Given the description of an element on the screen output the (x, y) to click on. 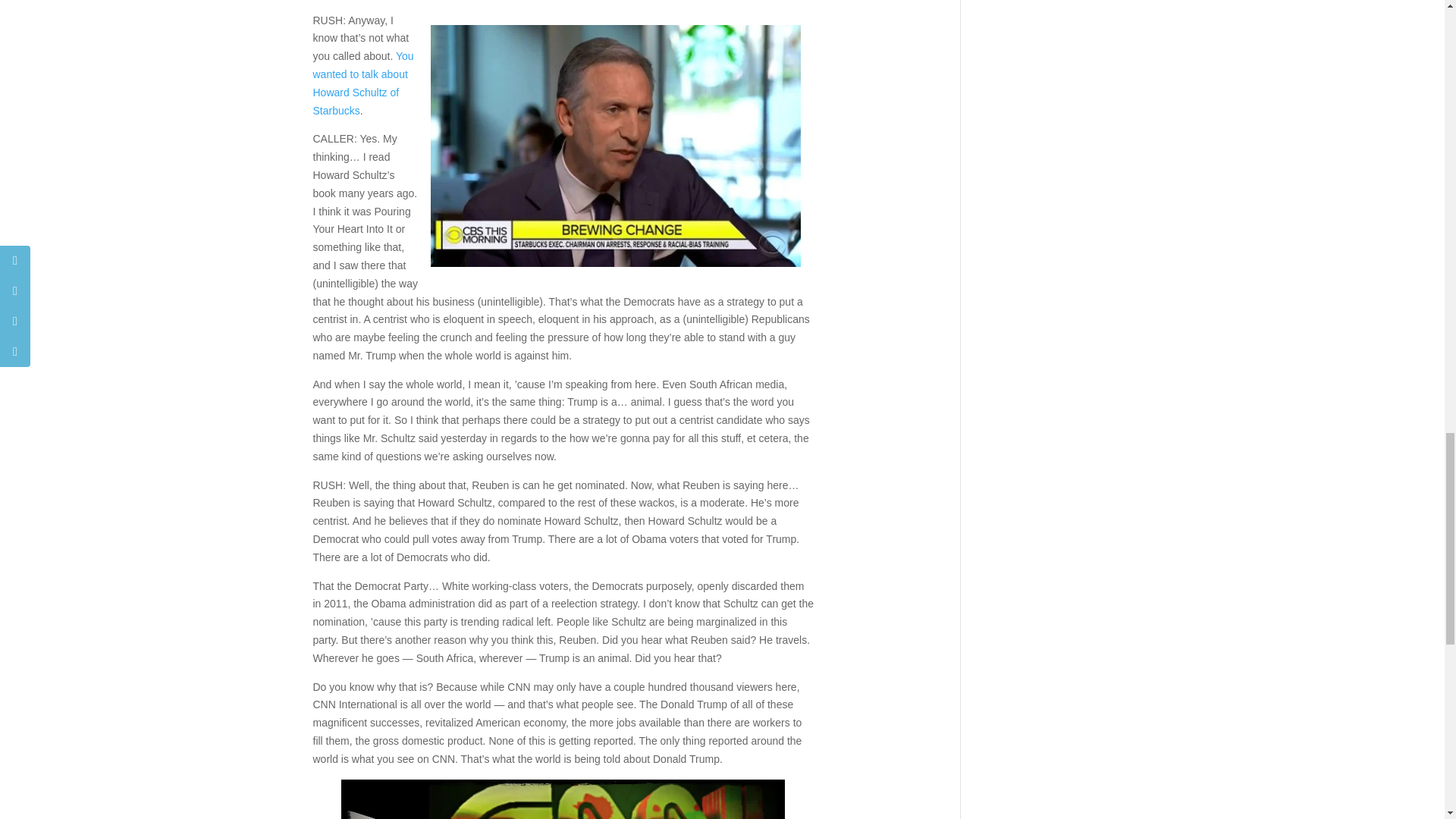
You wanted to talk about Howard Schultz of Starbucks (363, 82)
